Given the description of an element on the screen output the (x, y) to click on. 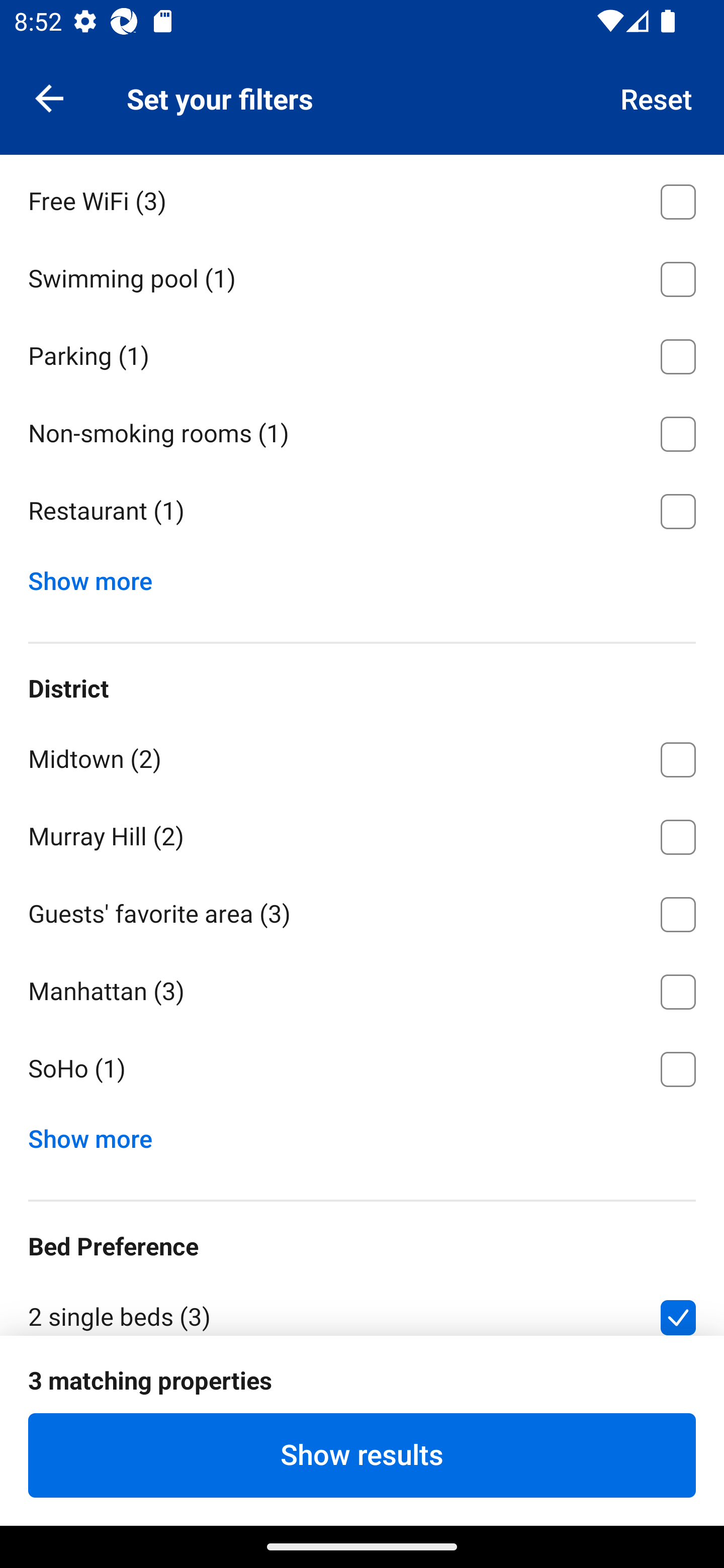
Navigate up (49, 97)
Reset (656, 97)
Free WiFi ⁦(3) (361, 197)
Swimming pool ⁦(1) (361, 275)
Parking ⁦(1) (361, 353)
Non-smoking rooms ⁦(1) (361, 430)
Restaurant ⁦(1) (361, 510)
Show more (97, 576)
Midtown ⁦(2) (361, 756)
Murray Hill ⁦(2) (361, 832)
Guests' favorite area ⁦(3) (361, 910)
Manhattan ⁦(3) (361, 988)
SoHo ⁦(1) (361, 1069)
Show more (97, 1134)
2 single beds ⁦(3) (361, 1304)
Double bed ⁦(3) (361, 1393)
Show results (361, 1454)
